Given the description of an element on the screen output the (x, y) to click on. 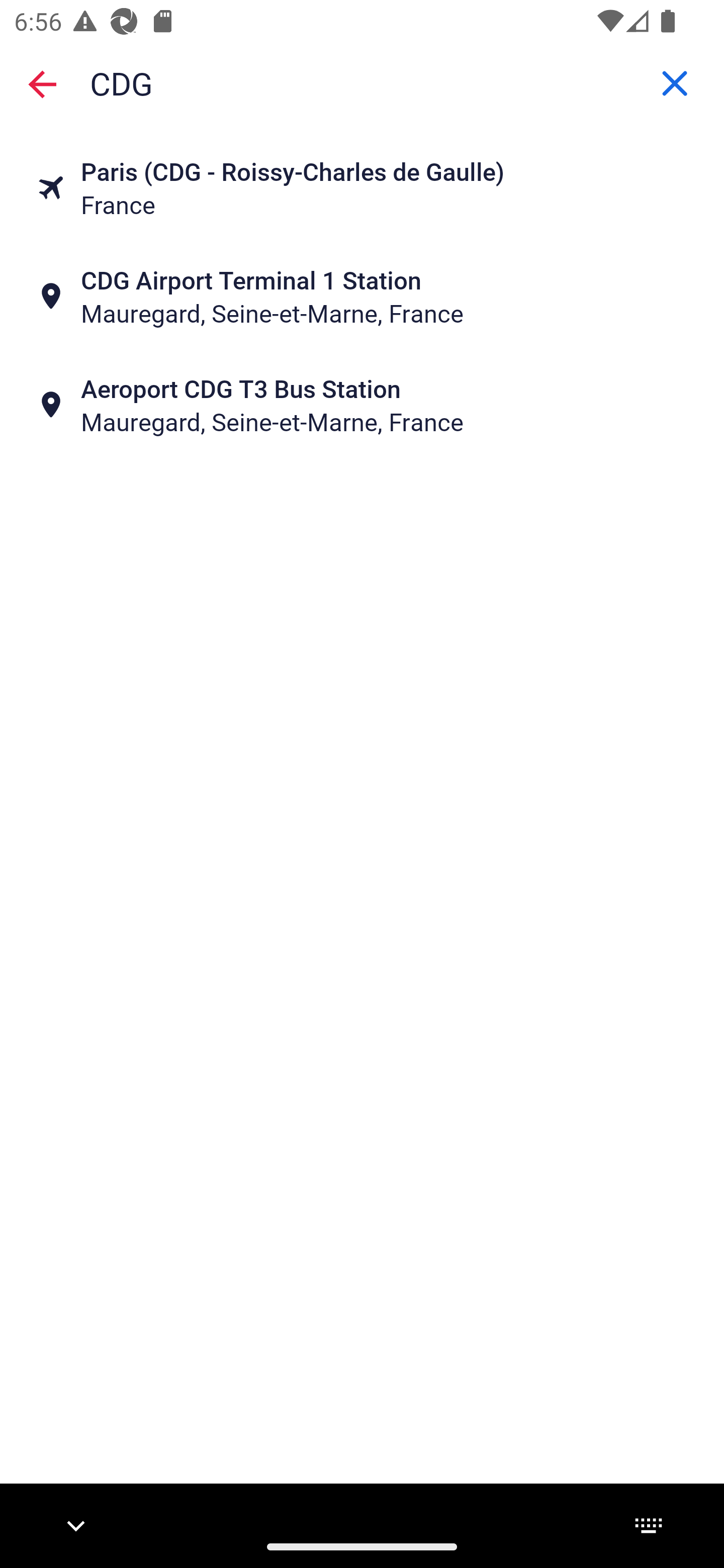
Clear Pick-up (674, 82)
Pick-up, CDG (361, 82)
Close search screen (41, 83)
